Given the description of an element on the screen output the (x, y) to click on. 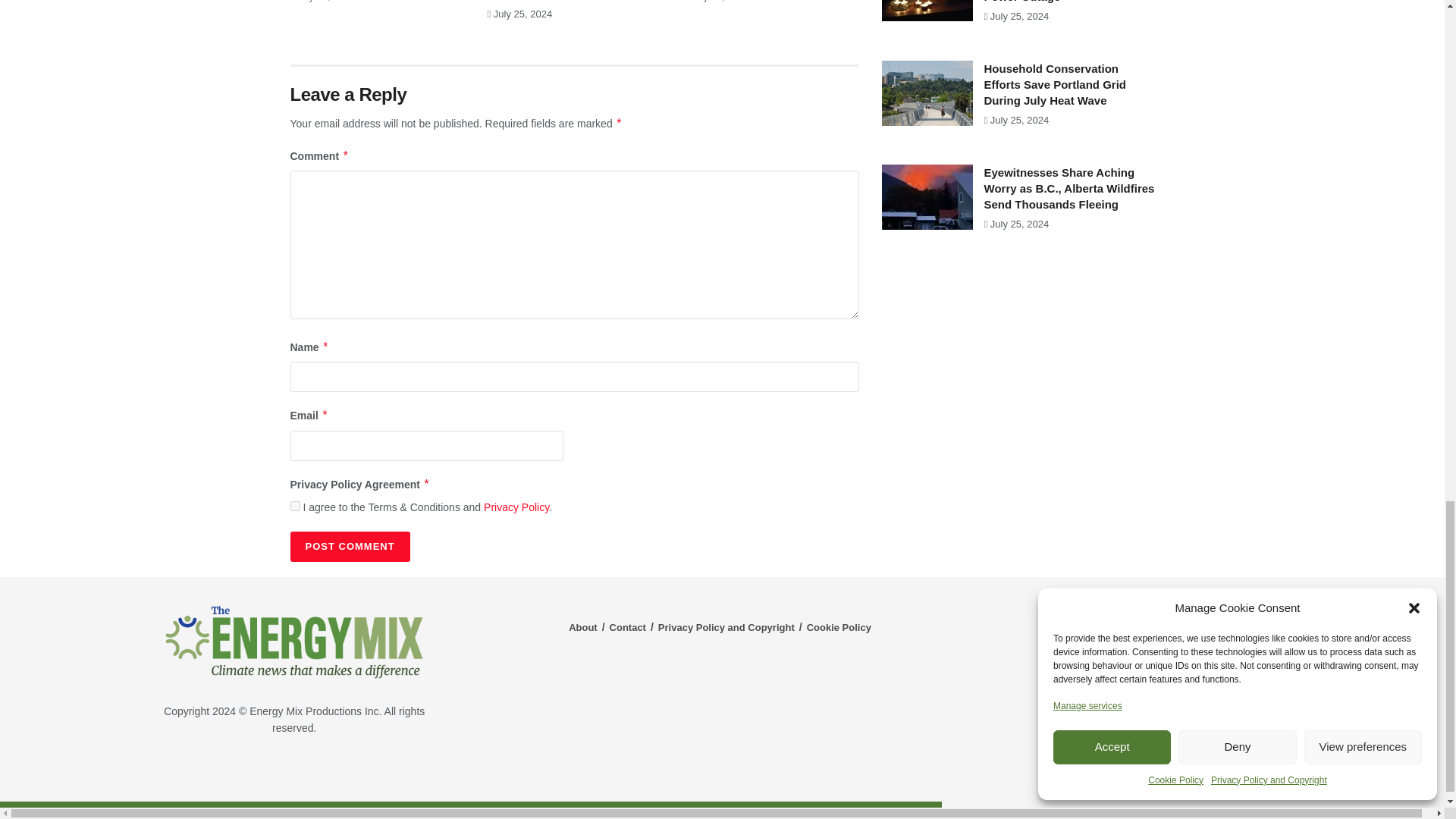
on (294, 506)
Post Comment (349, 546)
Climate-and-Capital (1221, 772)
tem-logo-2024 (294, 641)
